Given the description of an element on the screen output the (x, y) to click on. 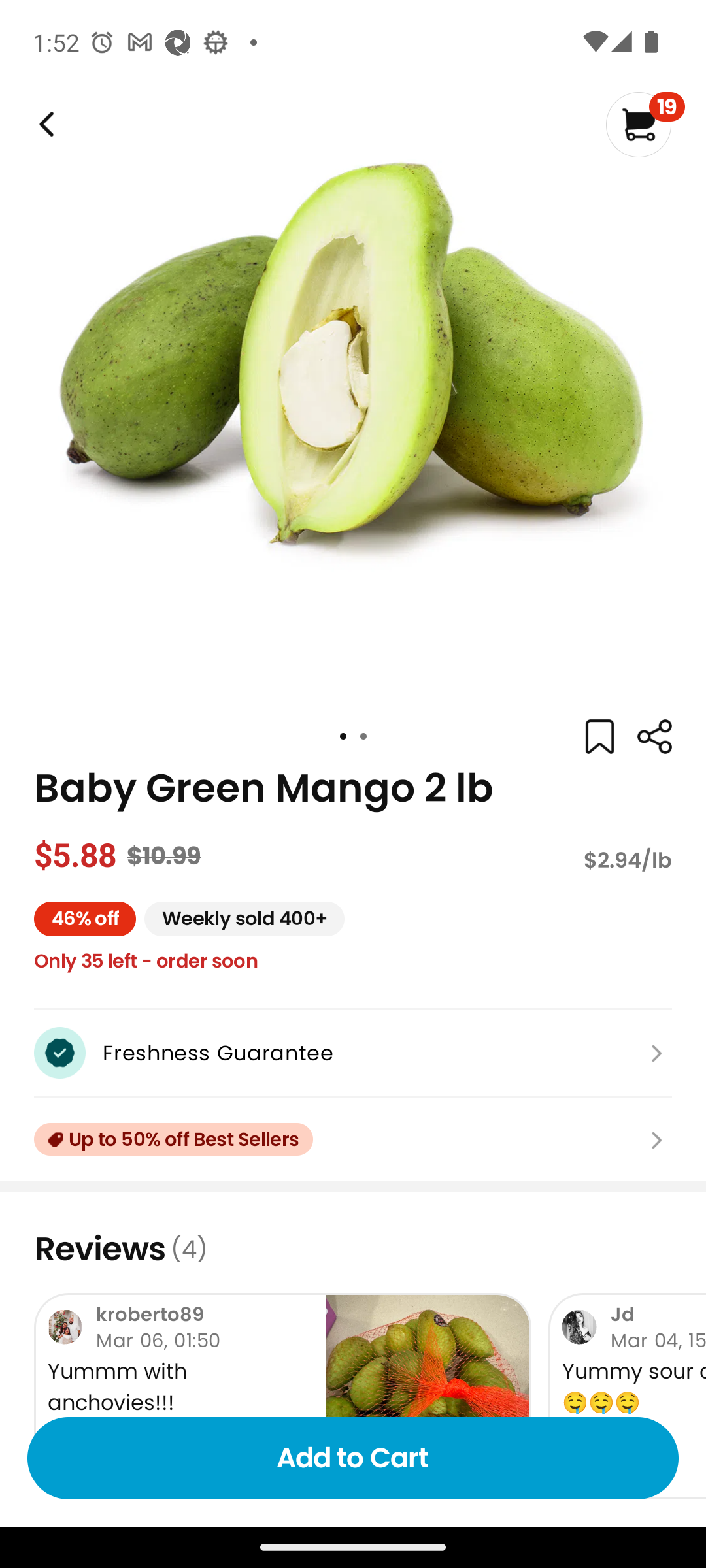
19 (644, 124)
Weee! (45, 124)
Weee! (653, 736)
Freshness Guarantee (352, 1052)
Up to 50% off Best Sellers (352, 1138)
Reviews (4) (353, 1248)
kroberto89 Mar 06, 01:50 Yummm with anchovies!!! (282, 1396)
Add to Cart (352, 1458)
